Given the description of an element on the screen output the (x, y) to click on. 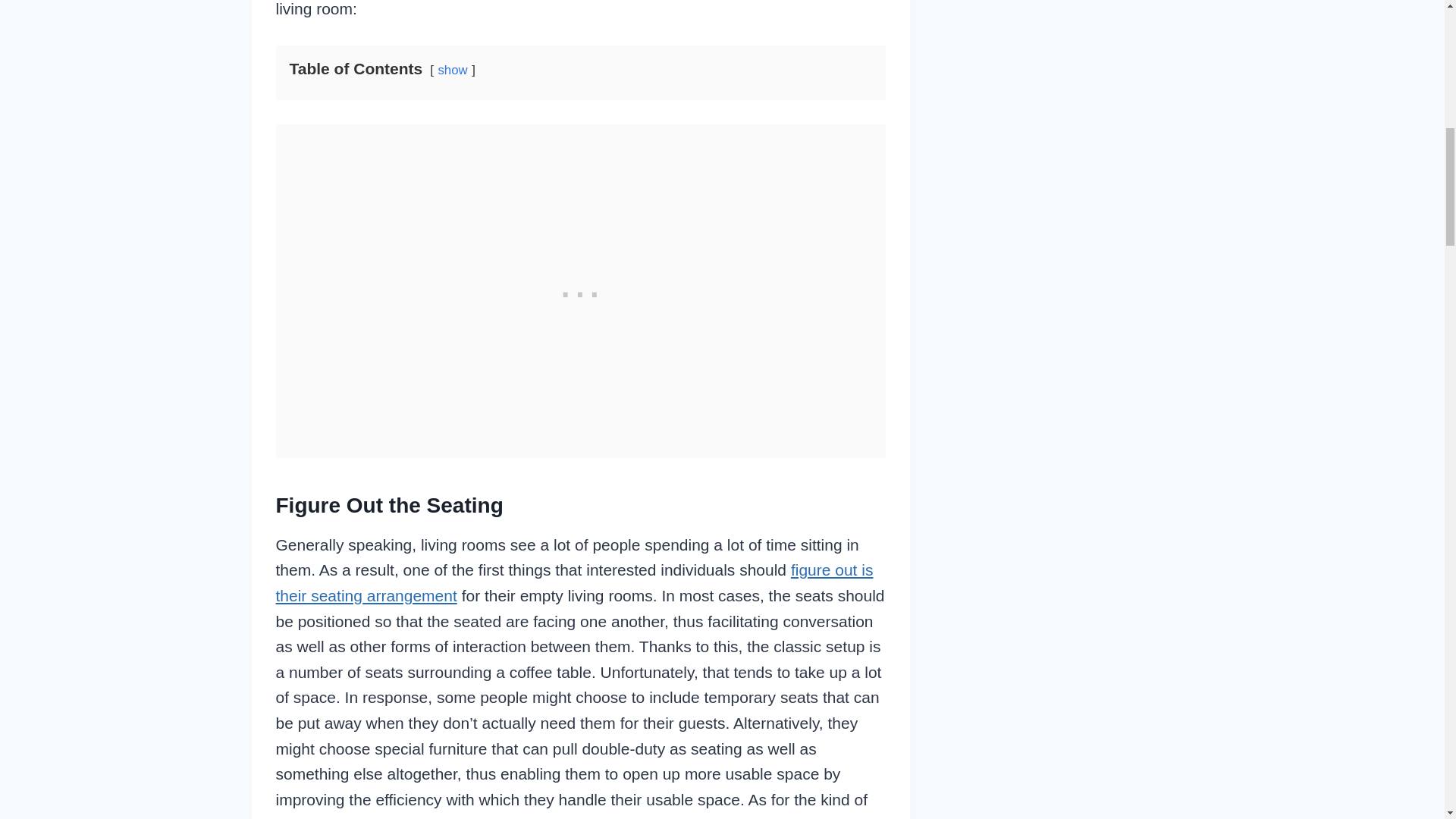
figure out is their seating arrangement (574, 582)
show (452, 69)
